Given the description of an element on the screen output the (x, y) to click on. 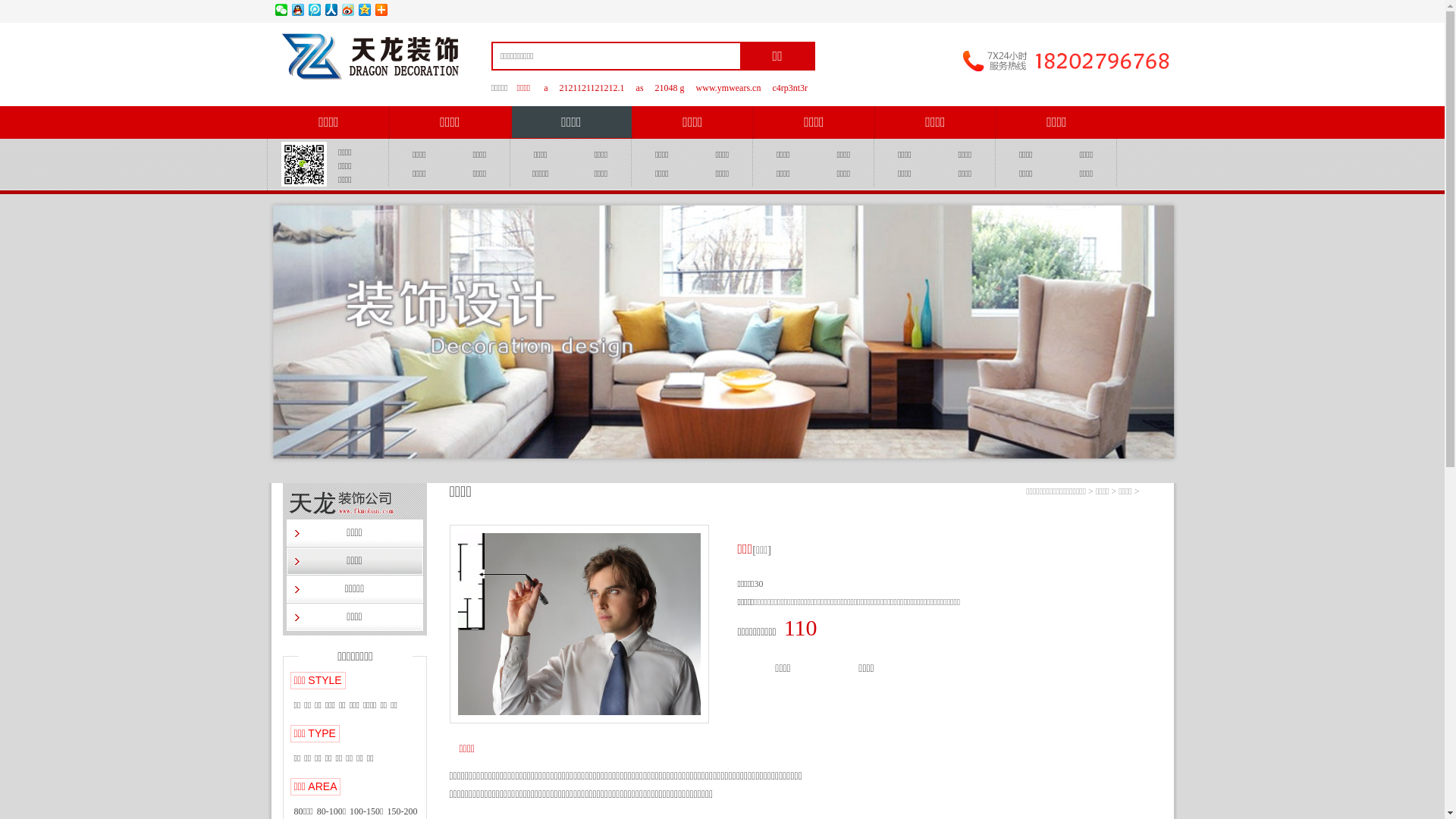
a Element type: text (544, 87)
www.ymwears.cn Element type: text (728, 87)
2121121121212.1 Element type: text (591, 87)
as Element type: text (639, 87)
c4rp3nt3r Element type: text (789, 87)
21048 g Element type: text (669, 87)
